Given the description of an element on the screen output the (x, y) to click on. 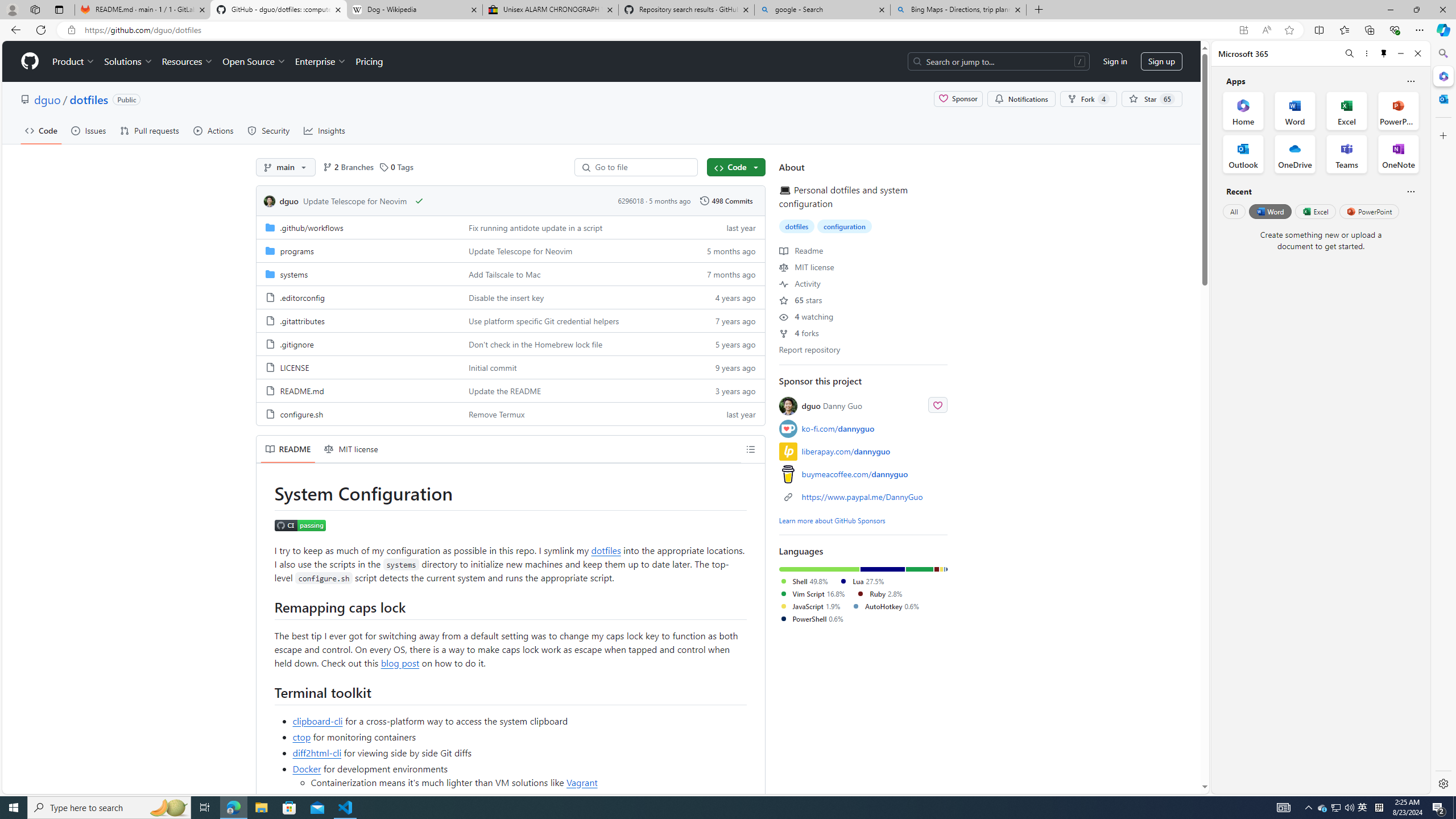
Unpin side pane (1383, 53)
ko-fi.com/dannyguo (837, 428)
Commit 6296018 (630, 200)
diff2html-cli (317, 752)
.github/workflows, (Directory) (311, 227)
Enterprise (319, 60)
Enterprise (319, 60)
PowerShell 0.6% (810, 618)
Disable the insert key (506, 297)
Teams Office App (1346, 154)
ctop (301, 736)
AutoHotkey 0.6% (884, 605)
Activity (799, 283)
